Given the description of an element on the screen output the (x, y) to click on. 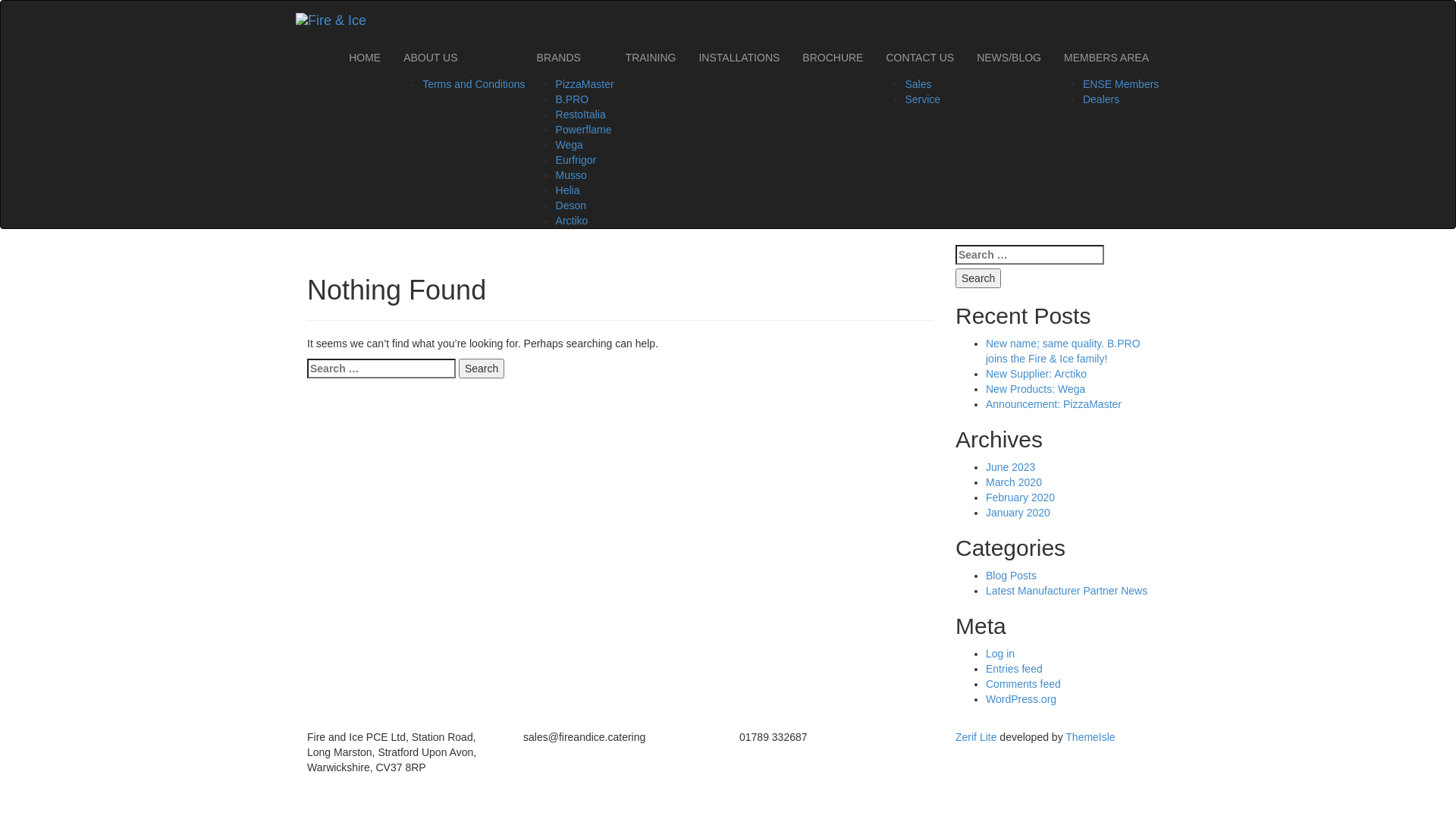
Latest Manufacturer Partner News Element type: text (1066, 590)
WordPress.org Element type: text (1020, 699)
RestoItalia Element type: text (580, 114)
Entries feed Element type: text (1013, 668)
ENSE Members Element type: text (1120, 84)
INSTALLATIONS Element type: text (738, 57)
New Products: Wega Element type: text (1035, 388)
Helia Element type: text (567, 190)
Search Element type: text (978, 278)
Skip to content Element type: text (376, 0)
Log in Element type: text (999, 653)
MEMBERS AREA Element type: text (1106, 57)
B.PRO Element type: text (572, 99)
Dealers Element type: text (1100, 99)
Announcement: PizzaMaster Element type: text (1053, 404)
ABOUT US Element type: text (458, 57)
ThemeIsle Element type: text (1089, 737)
Wega Element type: text (569, 144)
Zerif Lite Element type: text (977, 737)
Arctiko Element type: text (571, 220)
BRANDS Element type: text (569, 57)
Deson Element type: text (570, 205)
TRAINING Element type: text (650, 57)
Comments feed Element type: text (1022, 683)
New name; same quality. B.PRO joins the Fire & Ice family! Element type: text (1062, 350)
CONTACT US Element type: text (919, 57)
Musso Element type: text (570, 175)
Sales Element type: text (917, 84)
HOME Element type: text (364, 57)
Terms and Conditions Element type: text (473, 84)
January 2020 Element type: text (1017, 512)
PizzaMaster Element type: text (584, 84)
Blog Posts Element type: text (1010, 575)
Service Element type: text (922, 99)
New Supplier: Arctiko Element type: text (1035, 373)
Powerflame Element type: text (583, 129)
BROCHURE Element type: text (832, 57)
March 2020 Element type: text (1013, 482)
June 2023 Element type: text (1010, 467)
Eurfrigor Element type: text (575, 159)
NEWS/BLOG Element type: text (1008, 57)
Search Element type: text (481, 368)
February 2020 Element type: text (1019, 497)
